Given the description of an element on the screen output the (x, y) to click on. 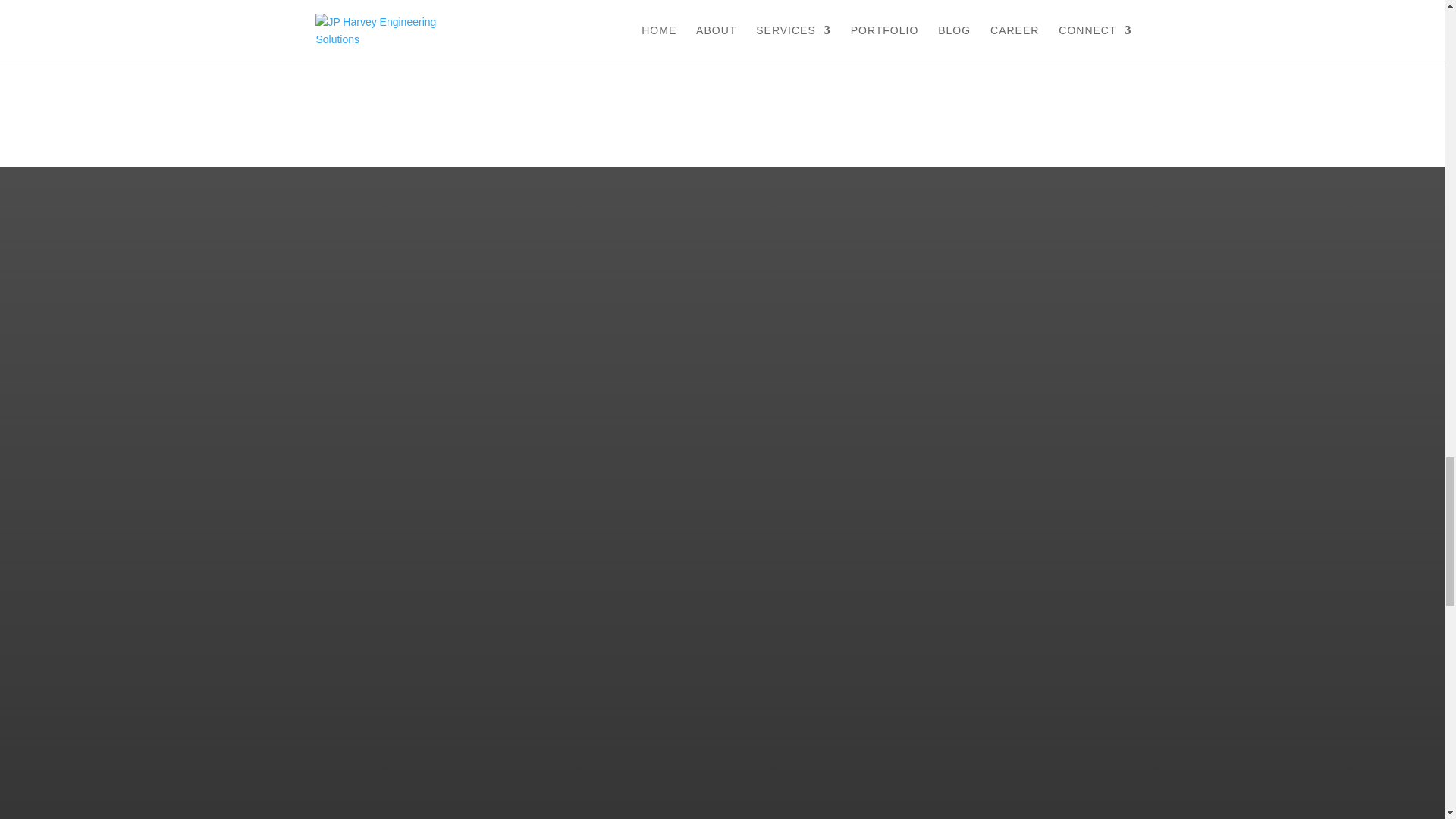
yes (319, 3)
